Given the description of an element on the screen output the (x, y) to click on. 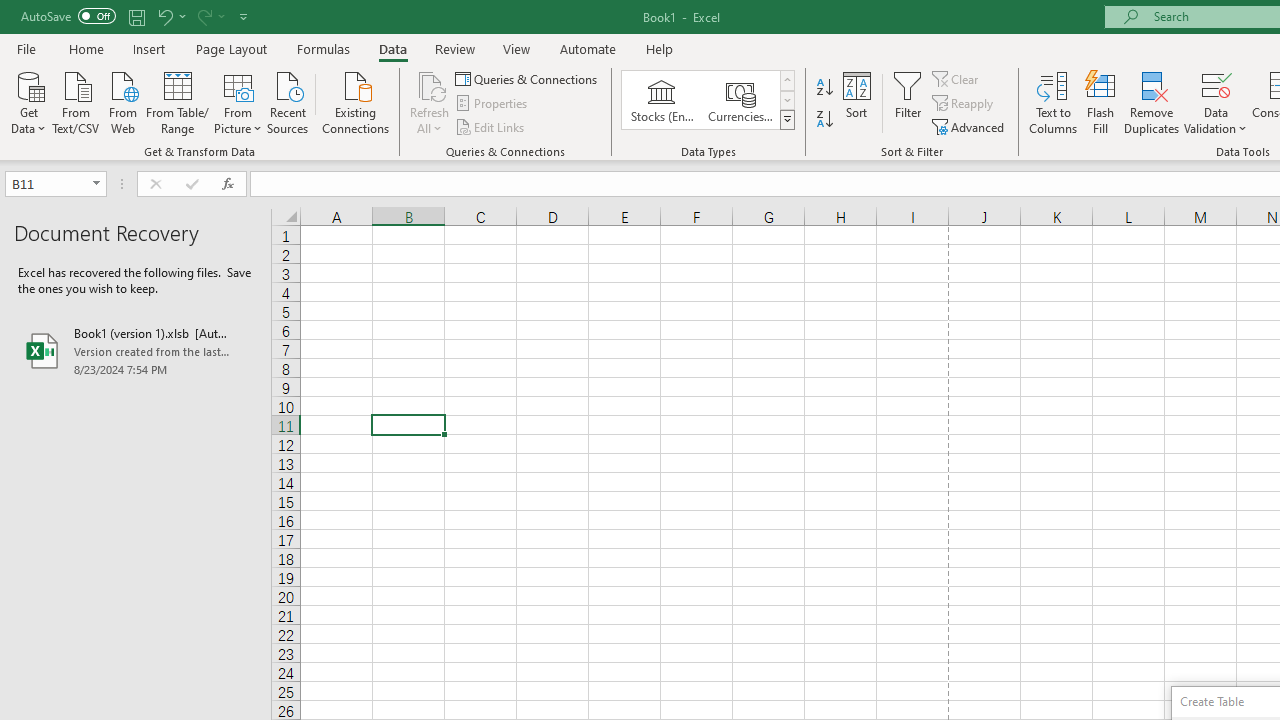
AutomationID: ConvertToLinkedEntity (708, 99)
From Web (122, 101)
Recent Sources (287, 101)
Flash Fill (1101, 102)
Get Data (28, 101)
Existing Connections (355, 101)
Stocks (English) (662, 100)
Advanced... (970, 126)
